Given the description of an element on the screen output the (x, y) to click on. 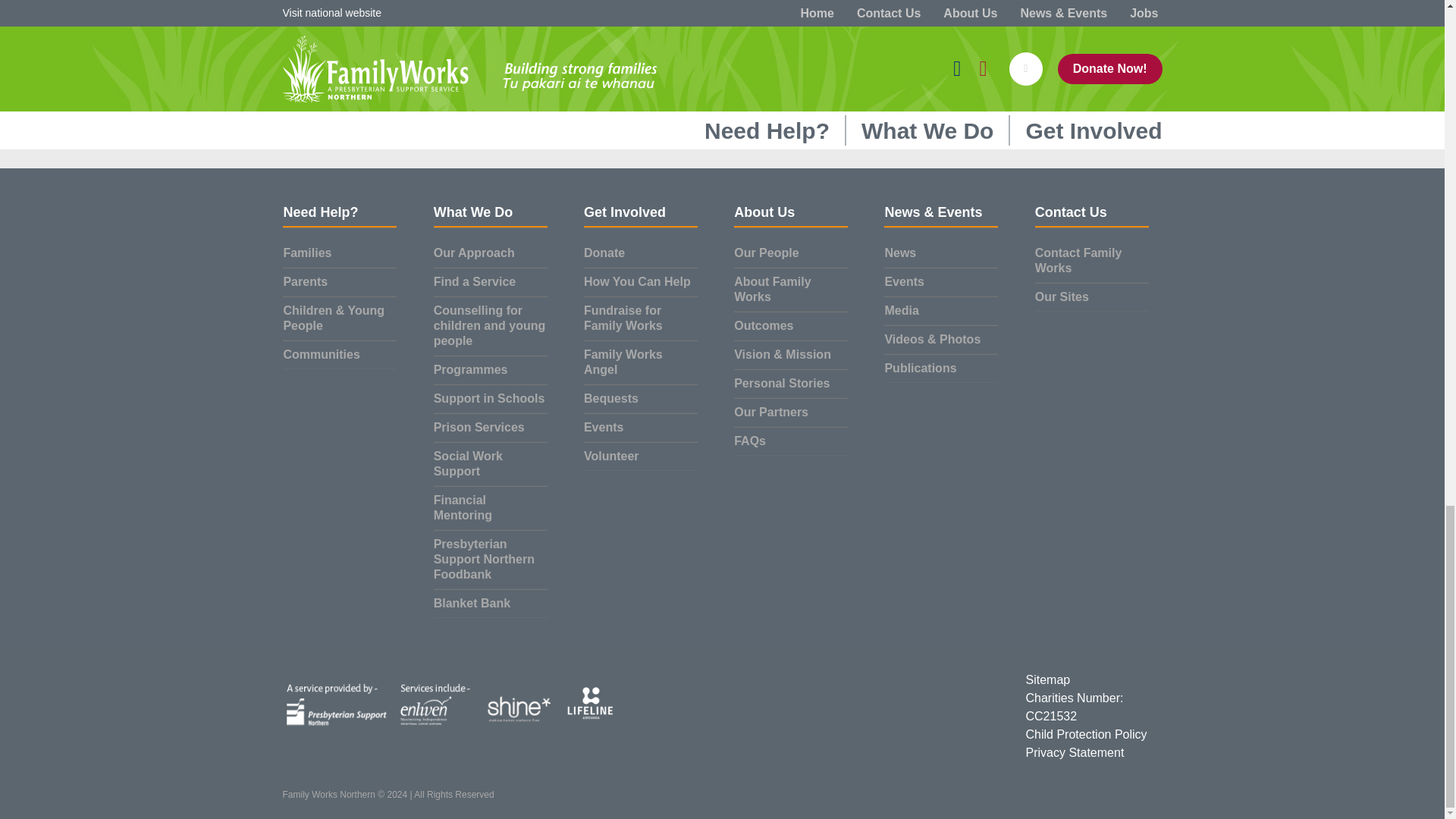
Subscribe (561, 69)
Sign up to Family Works Angel eNews (389, 37)
food-bank (846, 37)
